Given the description of an element on the screen output the (x, y) to click on. 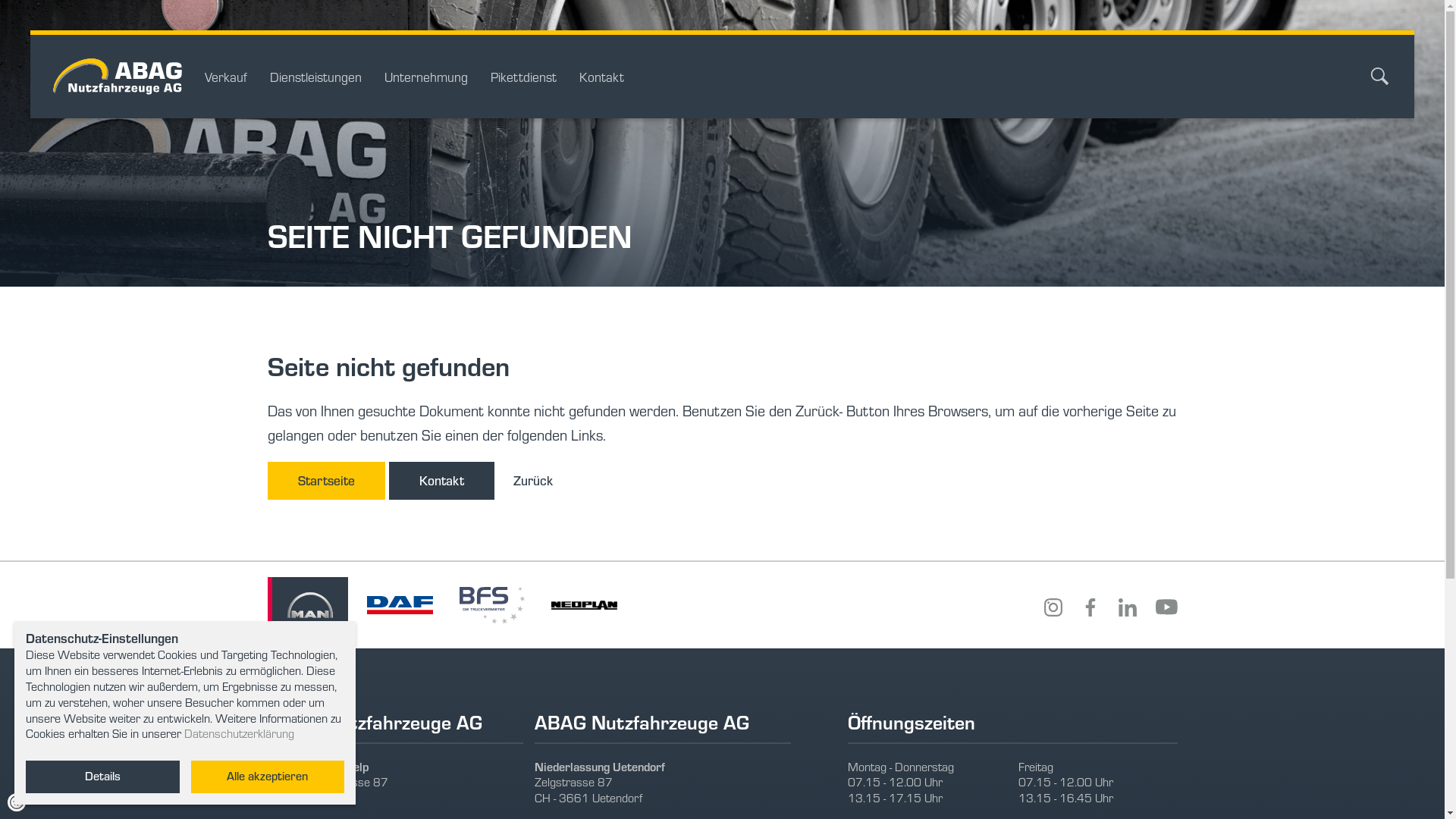
Kontakt Element type: text (440, 480)
Alle akzeptieren Element type: text (268, 776)
Verkauf Element type: text (225, 76)
Kontakt Element type: text (601, 76)
Startseite Element type: text (325, 480)
Pikettdienst Element type: text (523, 76)
Dienstleistungen Element type: text (315, 76)
Unternehmung Element type: text (426, 76)
Details Element type: text (102, 776)
